Given the description of an element on the screen output the (x, y) to click on. 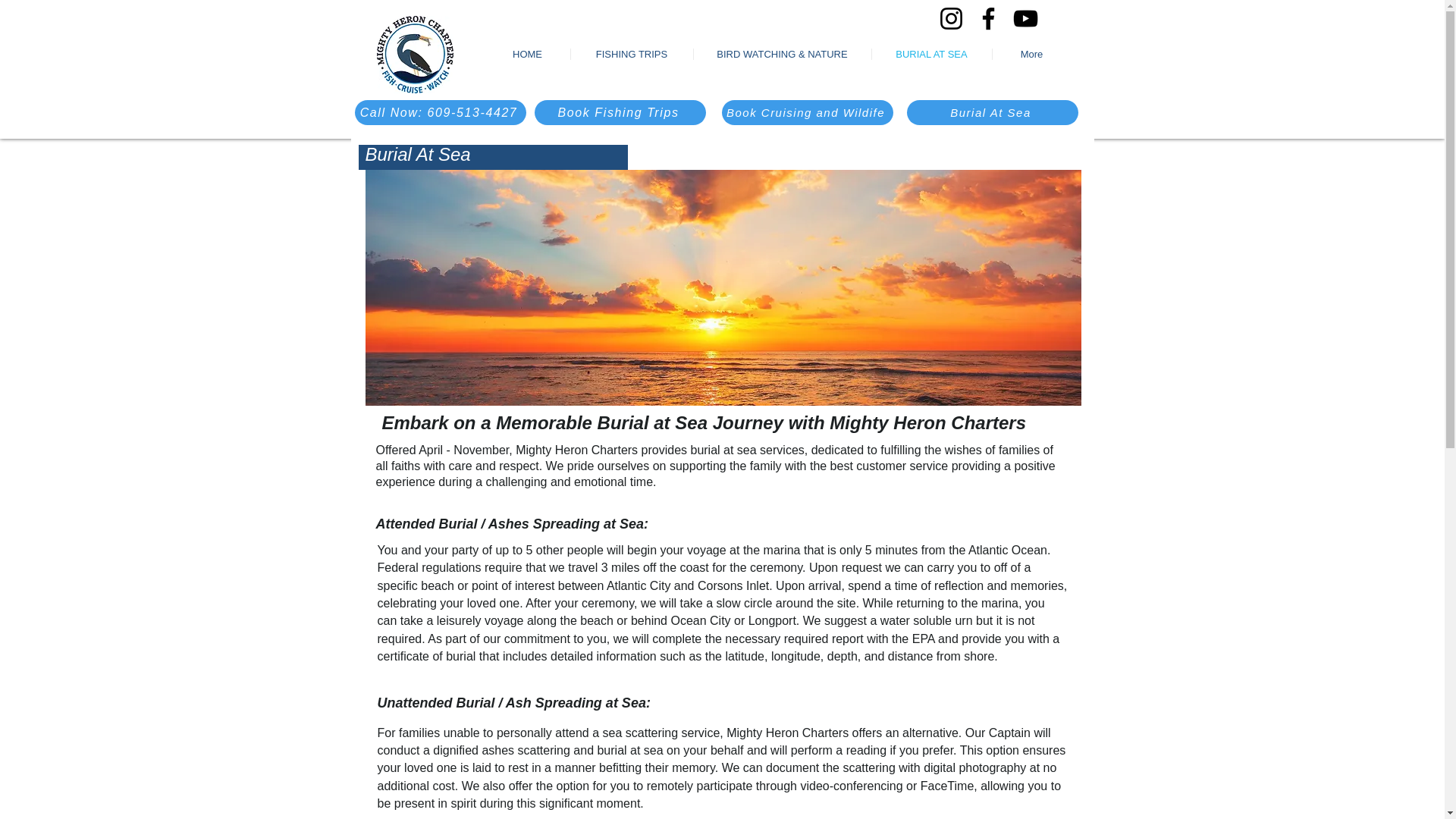
Call Now: 609-513-4427 (440, 112)
FISHING TRIPS (631, 53)
Book Cruising and Wildife (807, 112)
HOME (527, 53)
Burial At Sea (992, 112)
BURIAL AT SEA (931, 53)
Book Fishing Trips (619, 112)
